Given the description of an element on the screen output the (x, y) to click on. 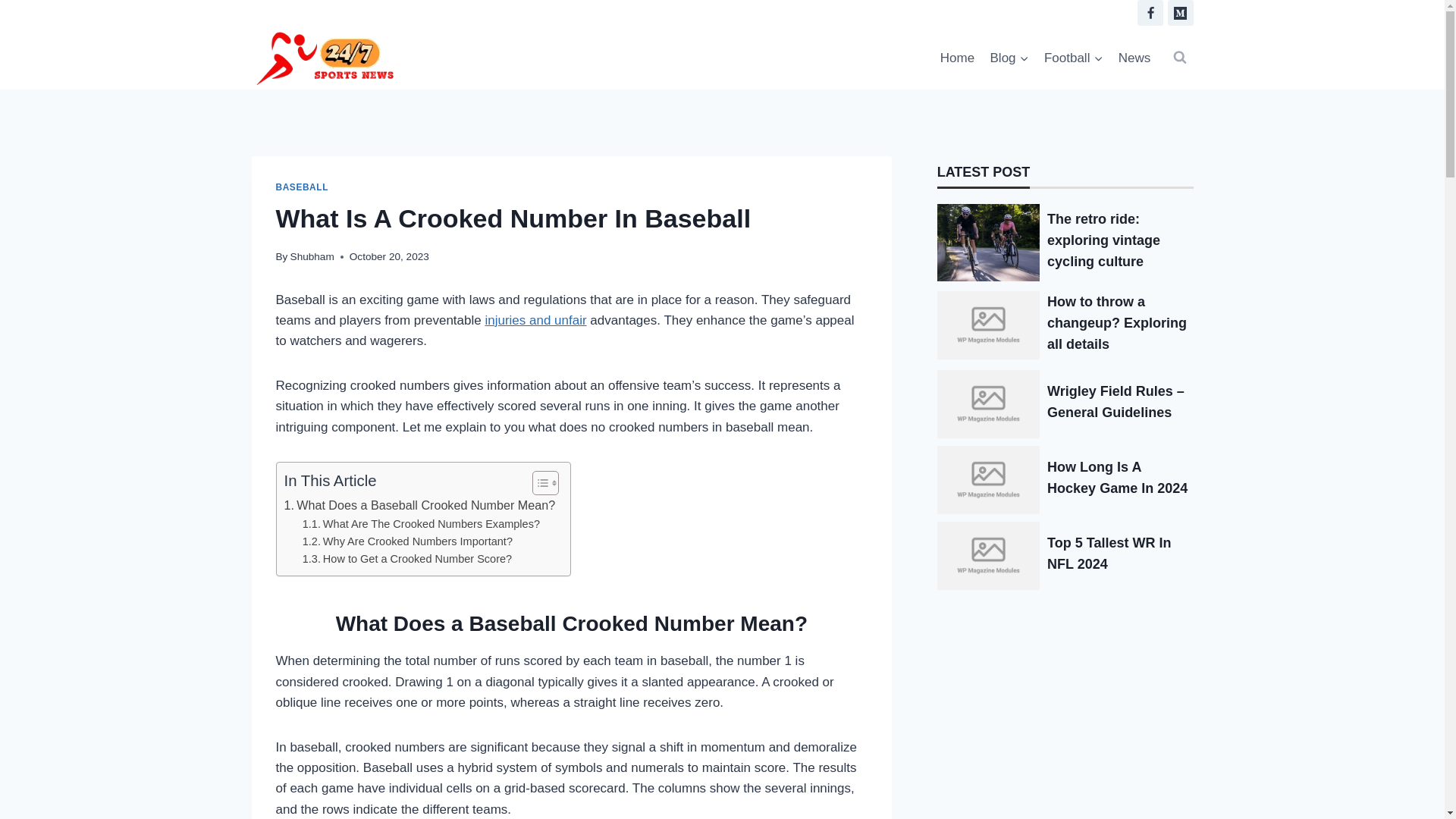
injuries and unfair (535, 319)
Why Are Crooked Numbers Important? (407, 541)
How to Get a Crooked Number Score? (407, 559)
What Does a Baseball Crooked Number Mean? (418, 505)
Home (957, 57)
Why Are Crooked Numbers Important? (407, 541)
How to Get a Crooked Number Score? (407, 559)
Football (1073, 57)
Shubham (311, 256)
What Are The Crooked Numbers Examples? (421, 524)
BASEBALL (302, 186)
News (1134, 57)
What Are The Crooked Numbers Examples? (421, 524)
Blog (1008, 57)
What Does a Baseball Crooked Number Mean? (418, 505)
